Given the description of an element on the screen output the (x, y) to click on. 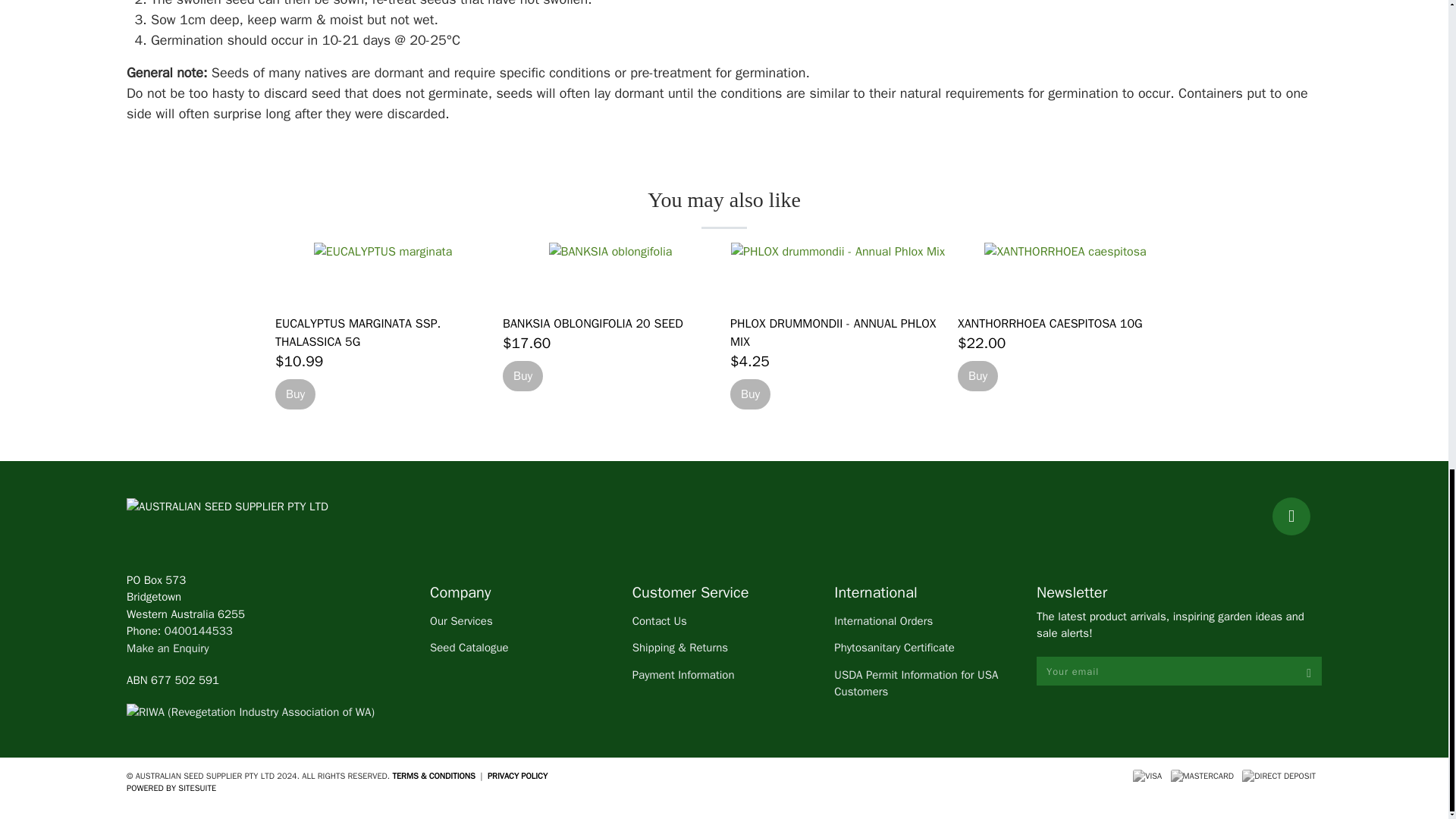
EUCALYPTUS marginata ssp. thalassica 5g (382, 272)
EUCALYPTUS marginata ssp. thalassica 5g (358, 332)
facebook (1291, 516)
BANKSIA oblongifolia 20 seed (609, 272)
XANTHORRHOEA caespitosa 10g (1065, 272)
PHLOX drummondii - Annual Phlox Mix (837, 272)
BANKSIA oblongifolia 20 seed (592, 323)
PHLOX drummondii - Annual Phlox Mix (833, 332)
XANTHORRHOEA caespitosa 10g (1050, 323)
